Given the description of an element on the screen output the (x, y) to click on. 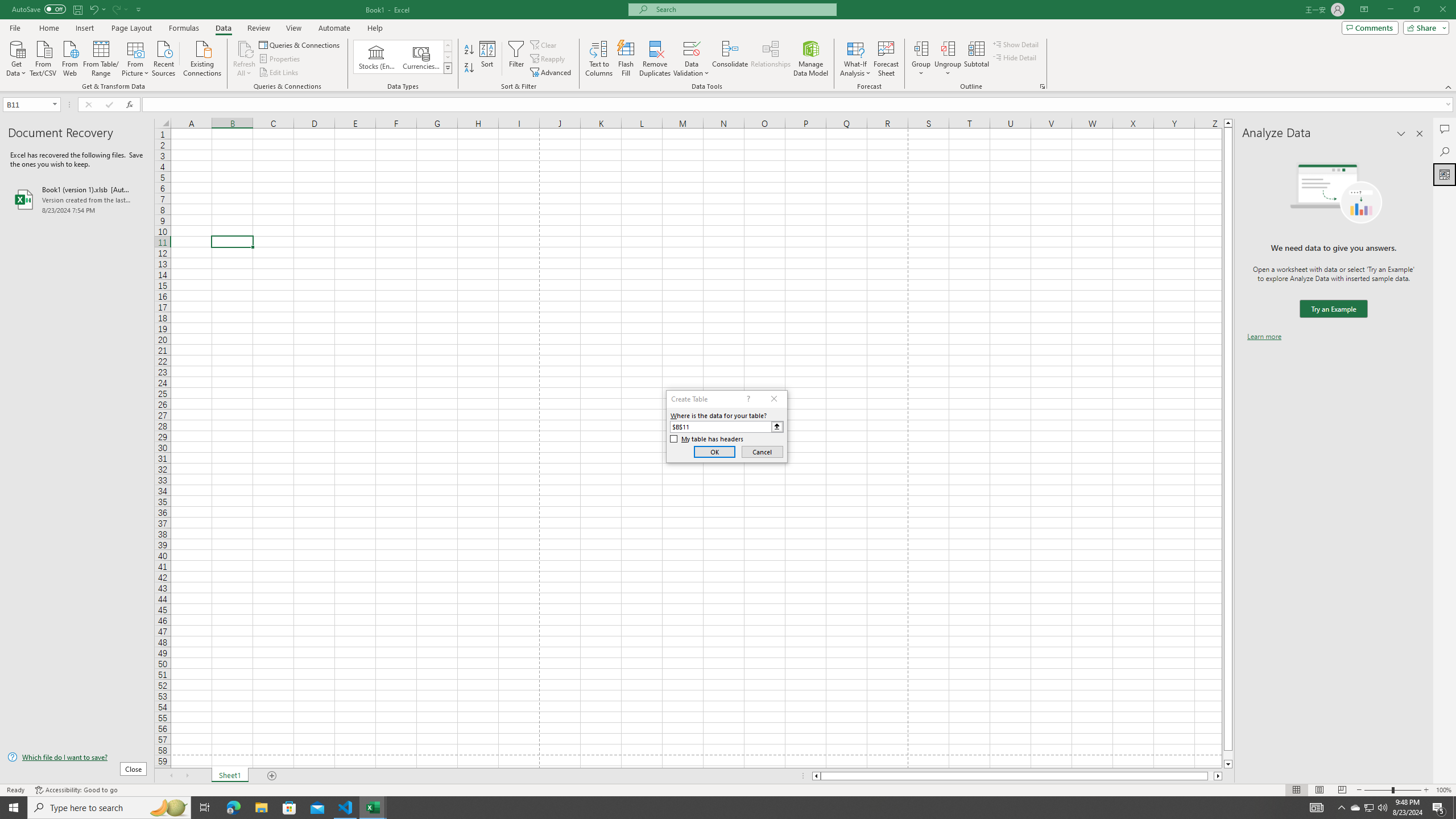
Consolidate... (729, 58)
